Given the description of an element on the screen output the (x, y) to click on. 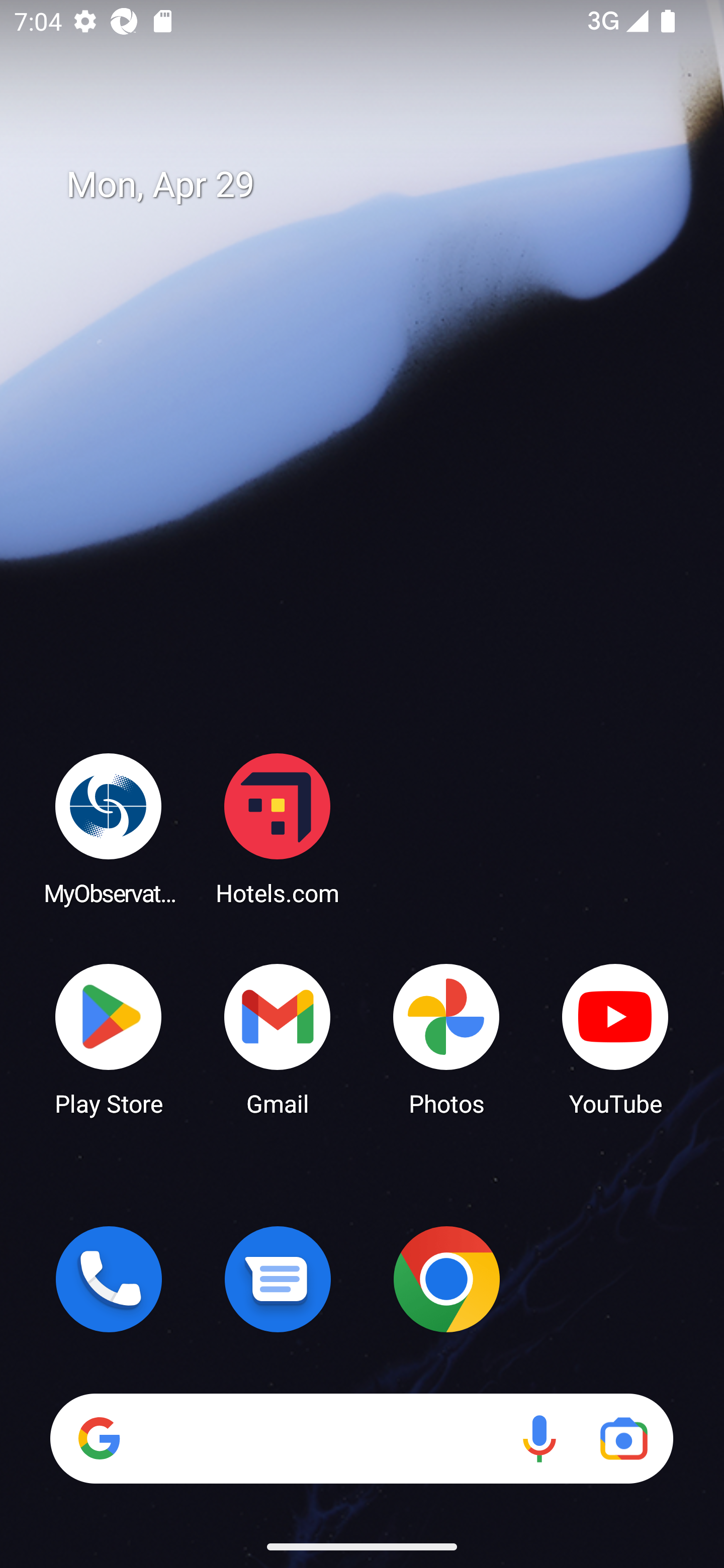
Mon, Apr 29 (375, 184)
MyObservatory (108, 828)
Hotels.com (277, 828)
Play Store (108, 1038)
Gmail (277, 1038)
Photos (445, 1038)
YouTube (615, 1038)
Phone (108, 1279)
Messages (277, 1279)
Chrome (446, 1279)
Search Voice search Google Lens (361, 1438)
Voice search (539, 1438)
Google Lens (623, 1438)
